Given the description of an element on the screen output the (x, y) to click on. 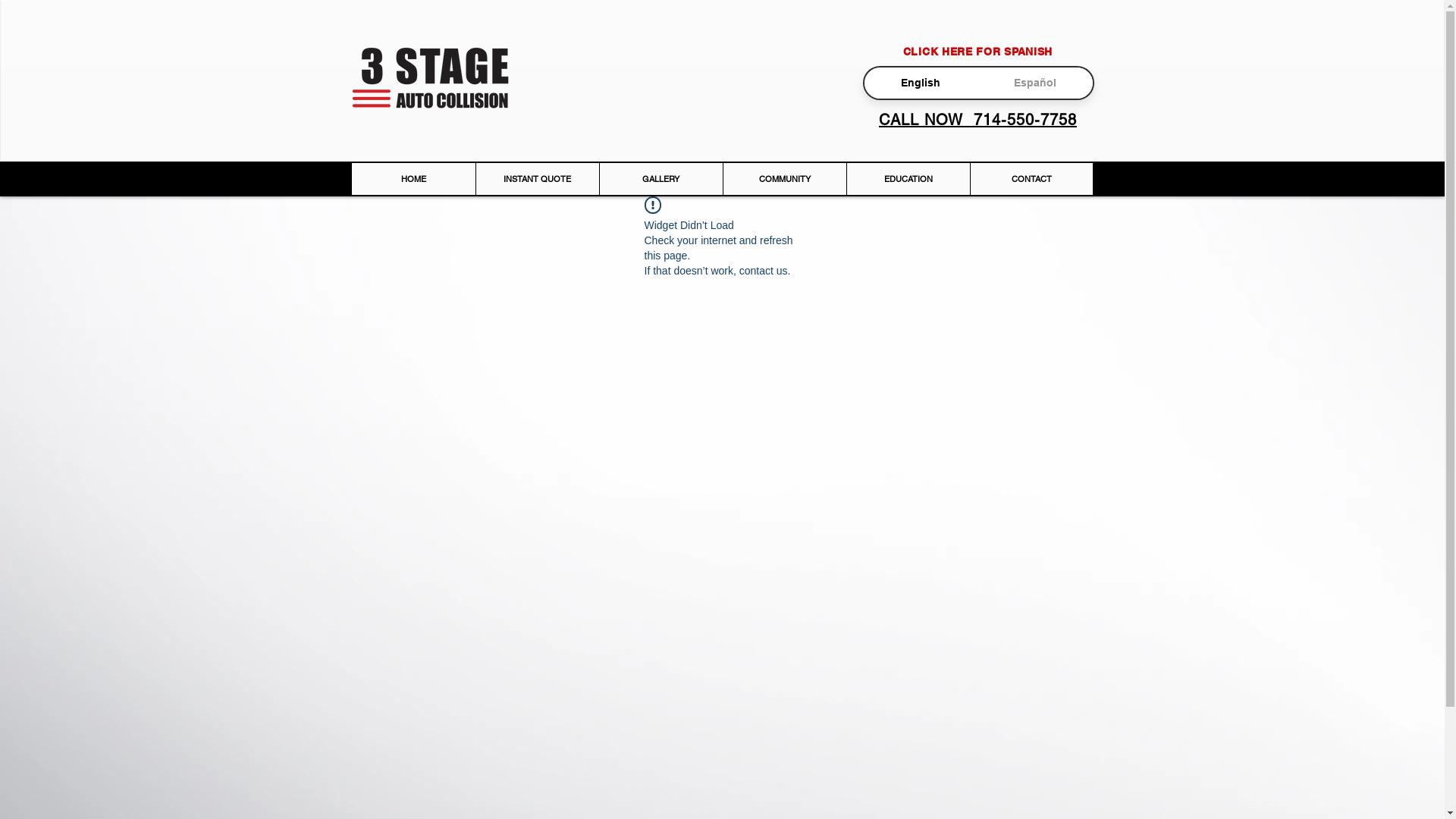
3 stage auto logo Element type: hover (429, 78)
HOME Element type: text (413, 178)
English Element type: text (920, 82)
INSTANT QUOTE Element type: text (536, 178)
COMMUNITY Element type: text (783, 178)
EDUCATION Element type: text (907, 178)
GALLERY Element type: text (660, 178)
CALL NOW  714-550-7758 Element type: text (977, 119)
CONTACT Element type: text (1030, 178)
